Given the description of an element on the screen output the (x, y) to click on. 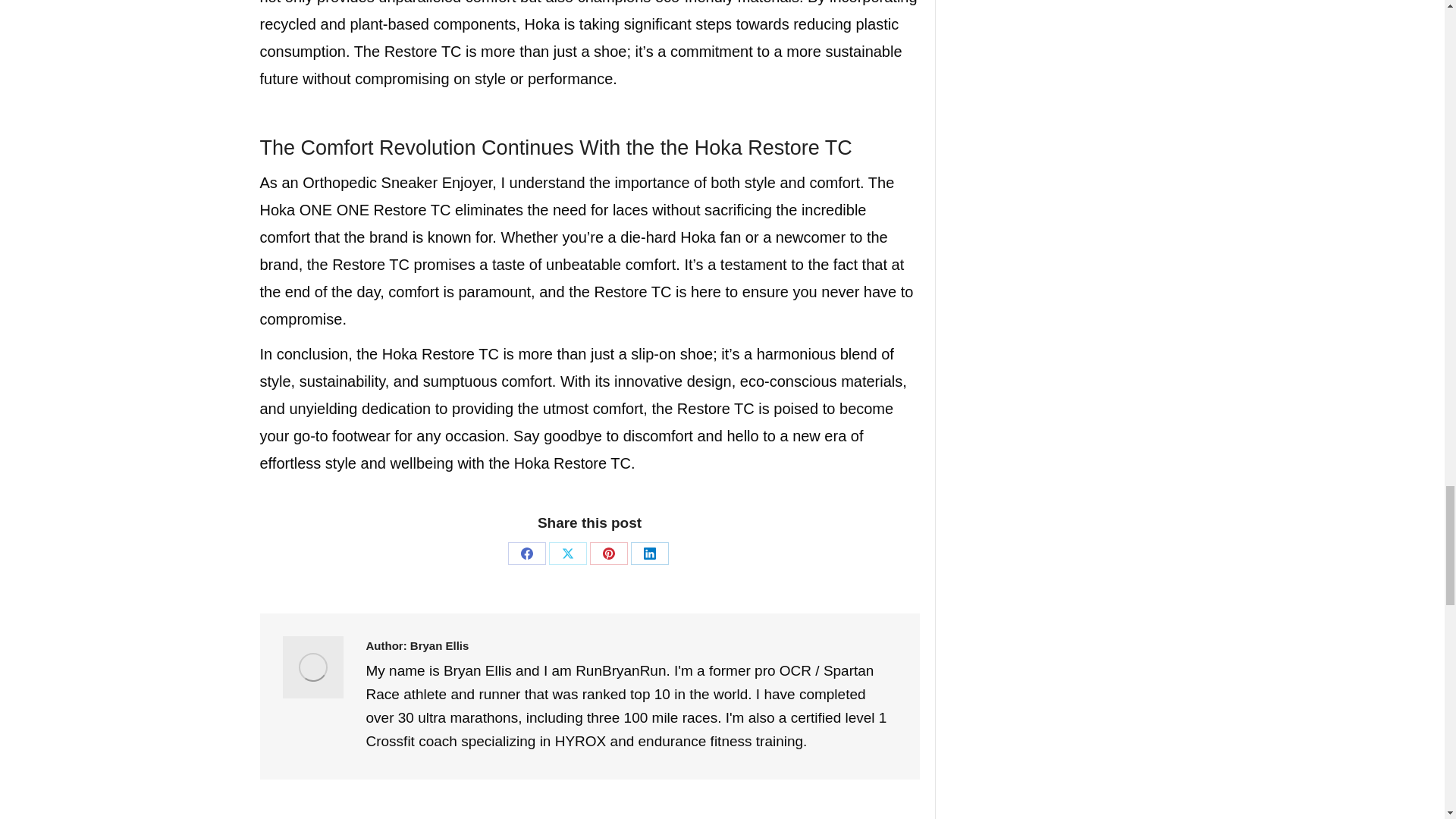
Share on Pinterest (608, 553)
Facebook (527, 553)
Share on X (567, 553)
Pinterest (608, 553)
LinkedIn (649, 553)
Share on Facebook (527, 553)
X (567, 553)
